Given the description of an element on the screen output the (x, y) to click on. 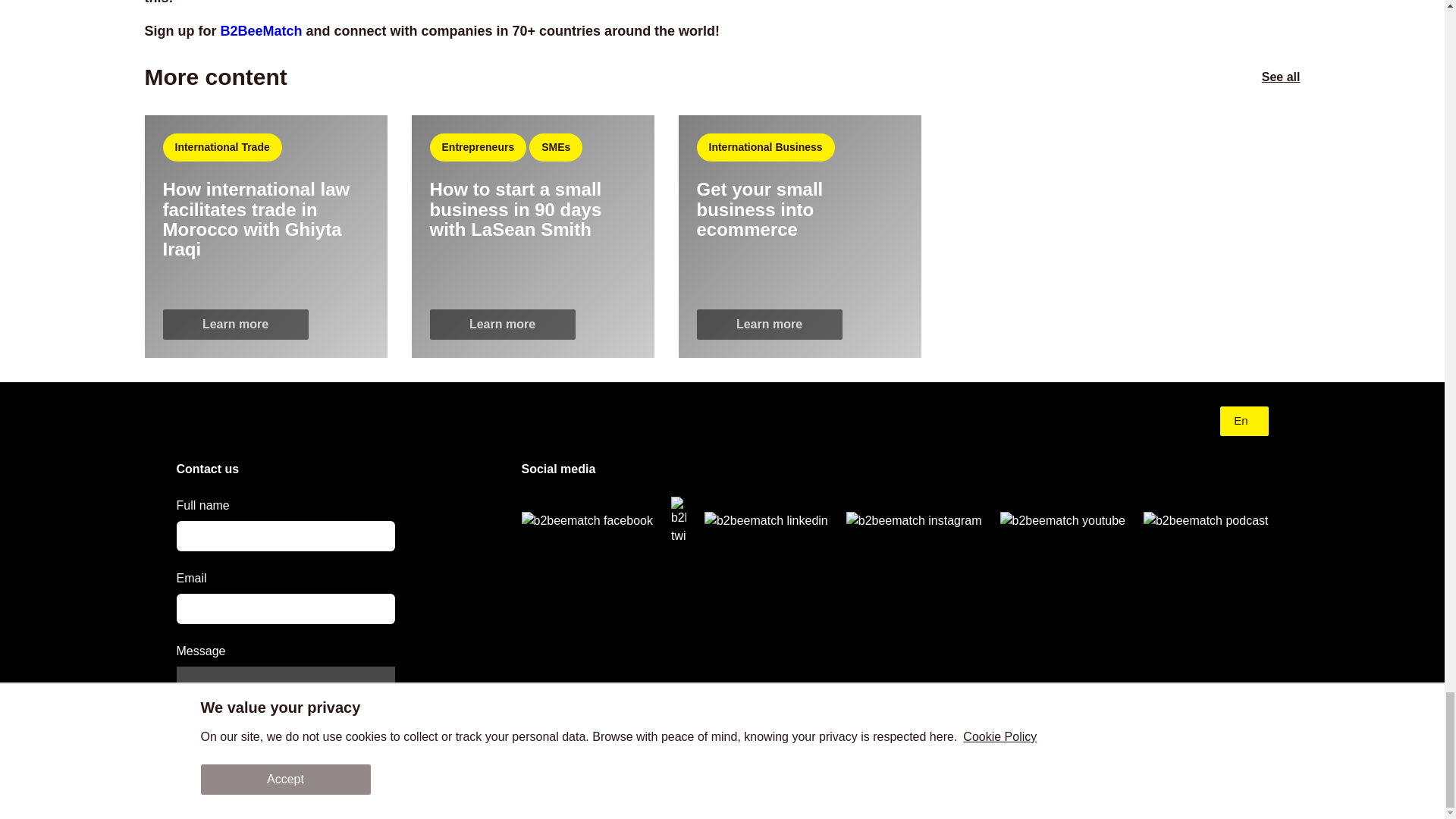
B2BeeMatch (260, 30)
